Given the description of an element on the screen output the (x, y) to click on. 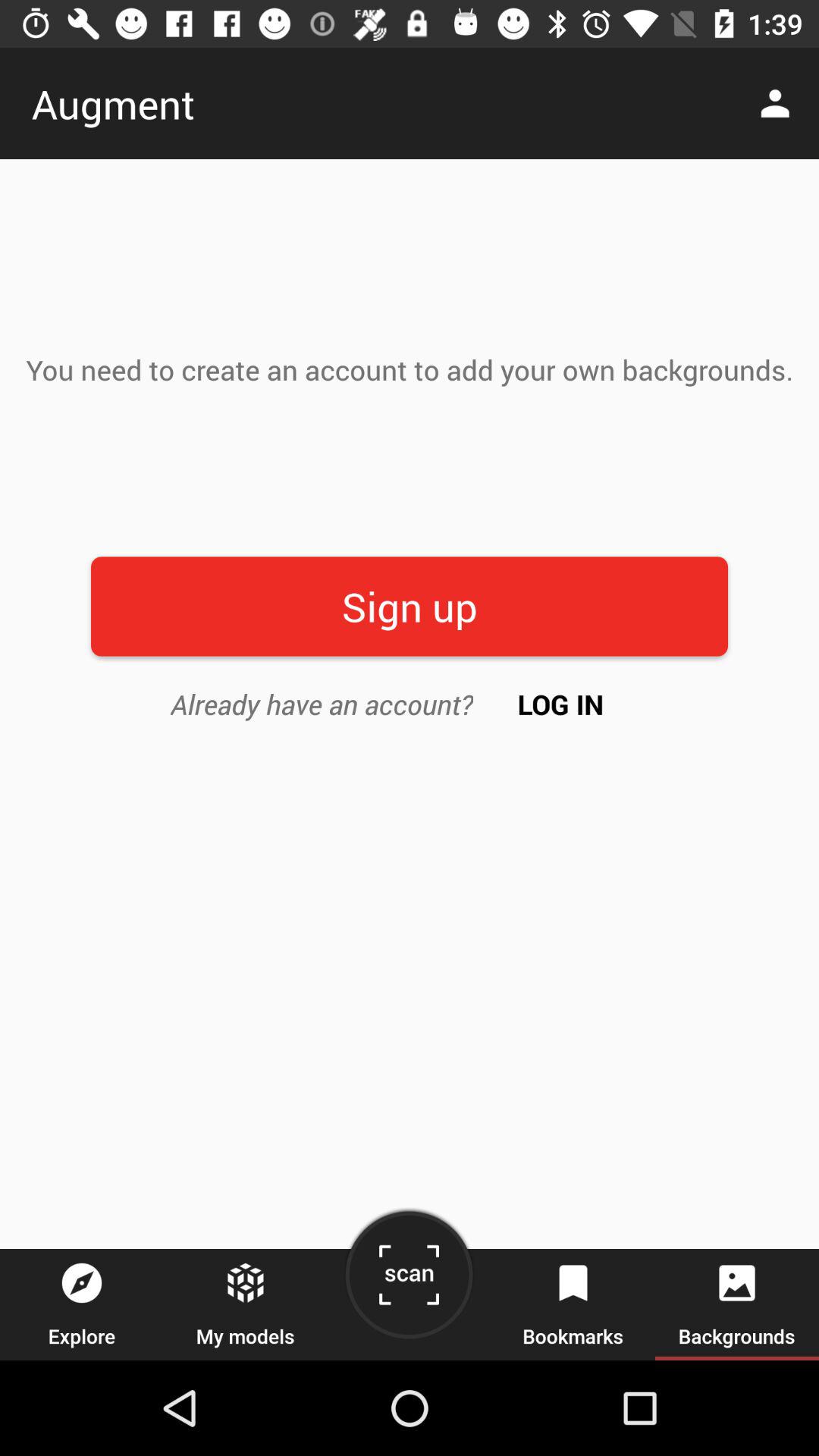
launch the sign up item (409, 606)
